Given the description of an element on the screen output the (x, y) to click on. 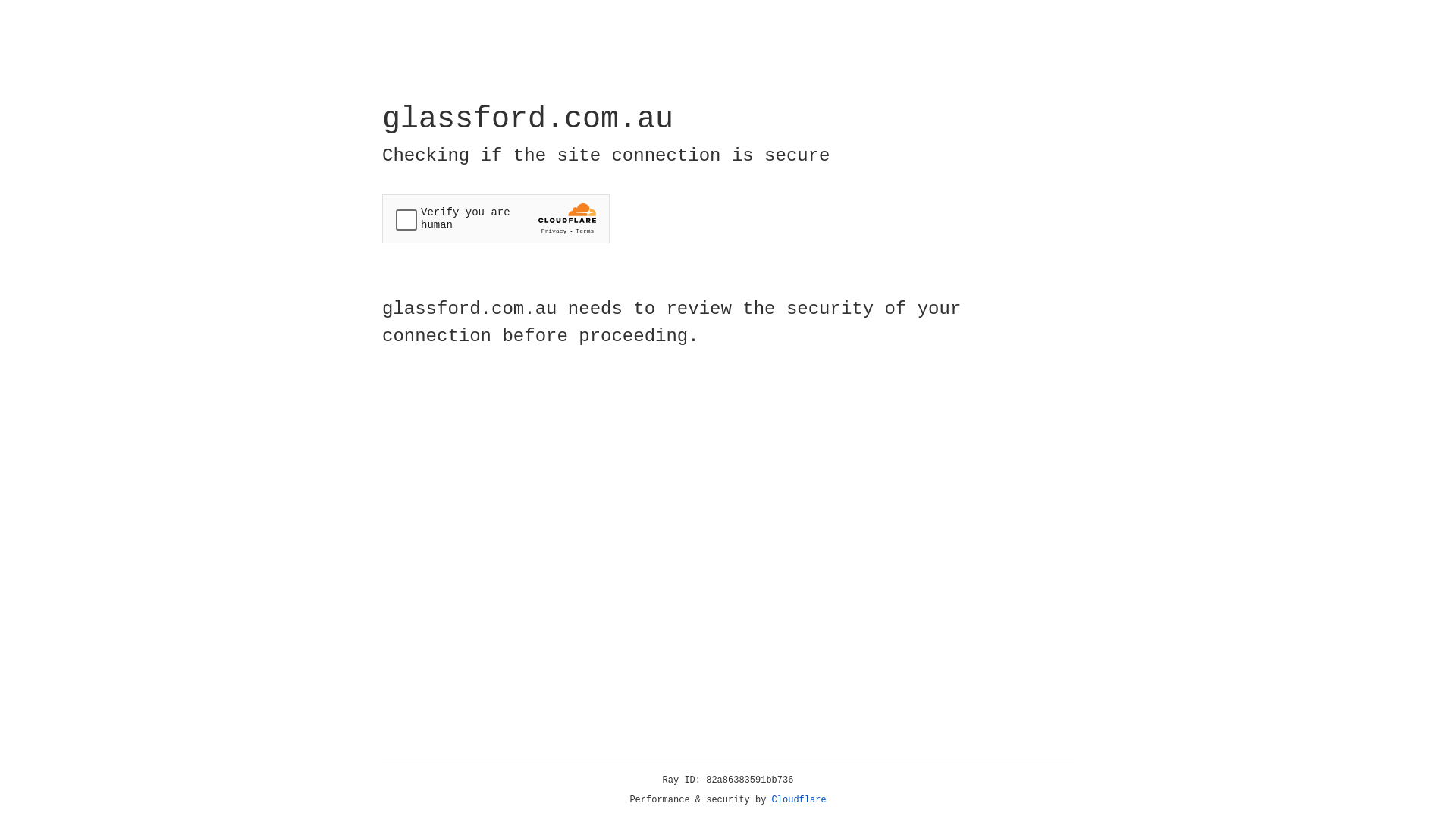
Cloudflare Element type: text (798, 799)
Widget containing a Cloudflare security challenge Element type: hover (495, 218)
